Given the description of an element on the screen output the (x, y) to click on. 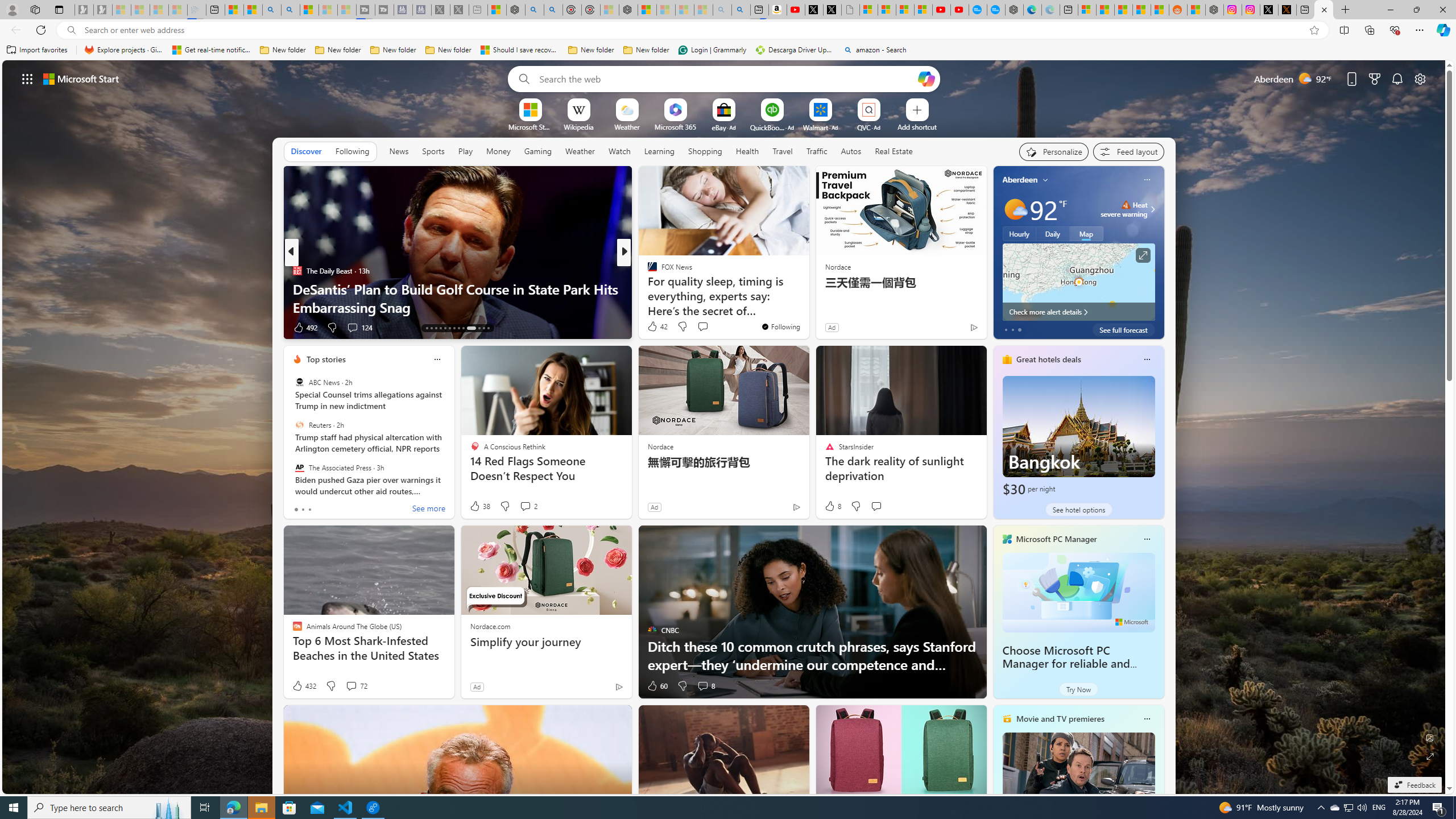
Class: icon-img (1146, 718)
Health (746, 151)
Travel (782, 151)
